Given the description of an element on the screen output the (x, y) to click on. 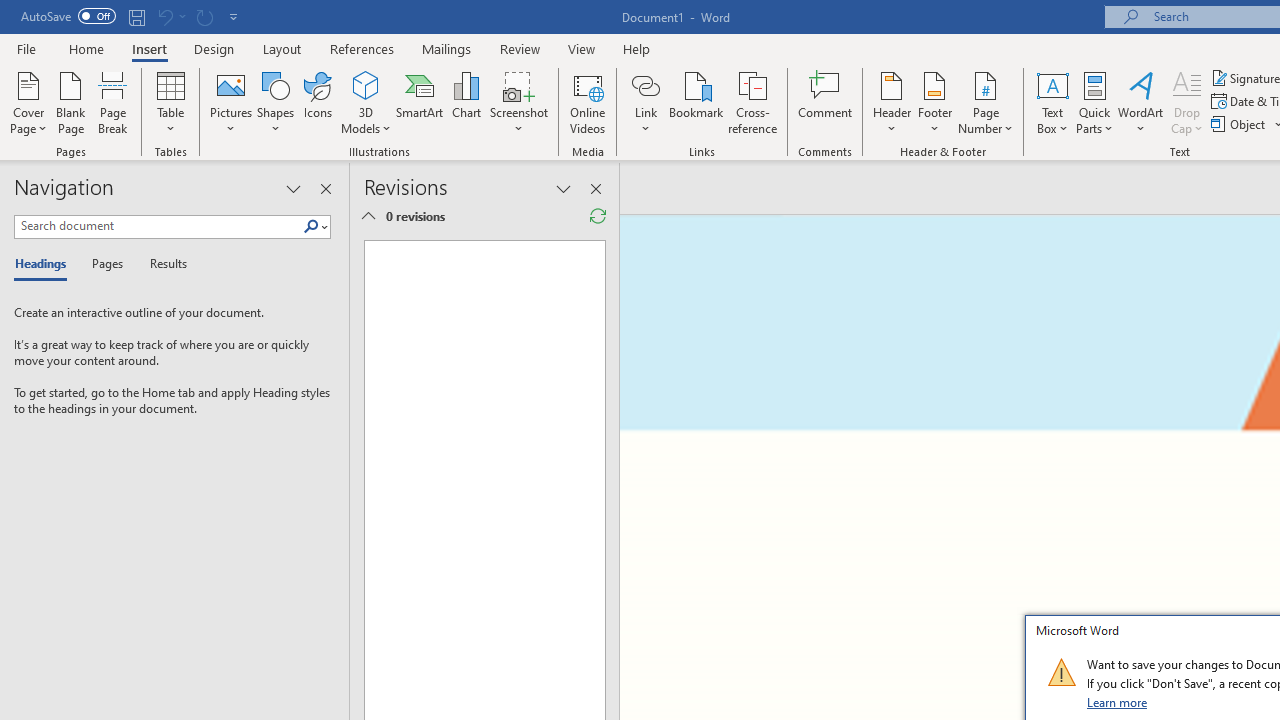
Link (645, 84)
Page Number (986, 102)
Learn more (1118, 702)
Footer (934, 102)
Chart... (466, 102)
Header (891, 102)
Pages (105, 264)
Quick Parts (1094, 102)
Bookmark... (695, 102)
SmartArt... (419, 102)
Screenshot (518, 102)
